Given the description of an element on the screen output the (x, y) to click on. 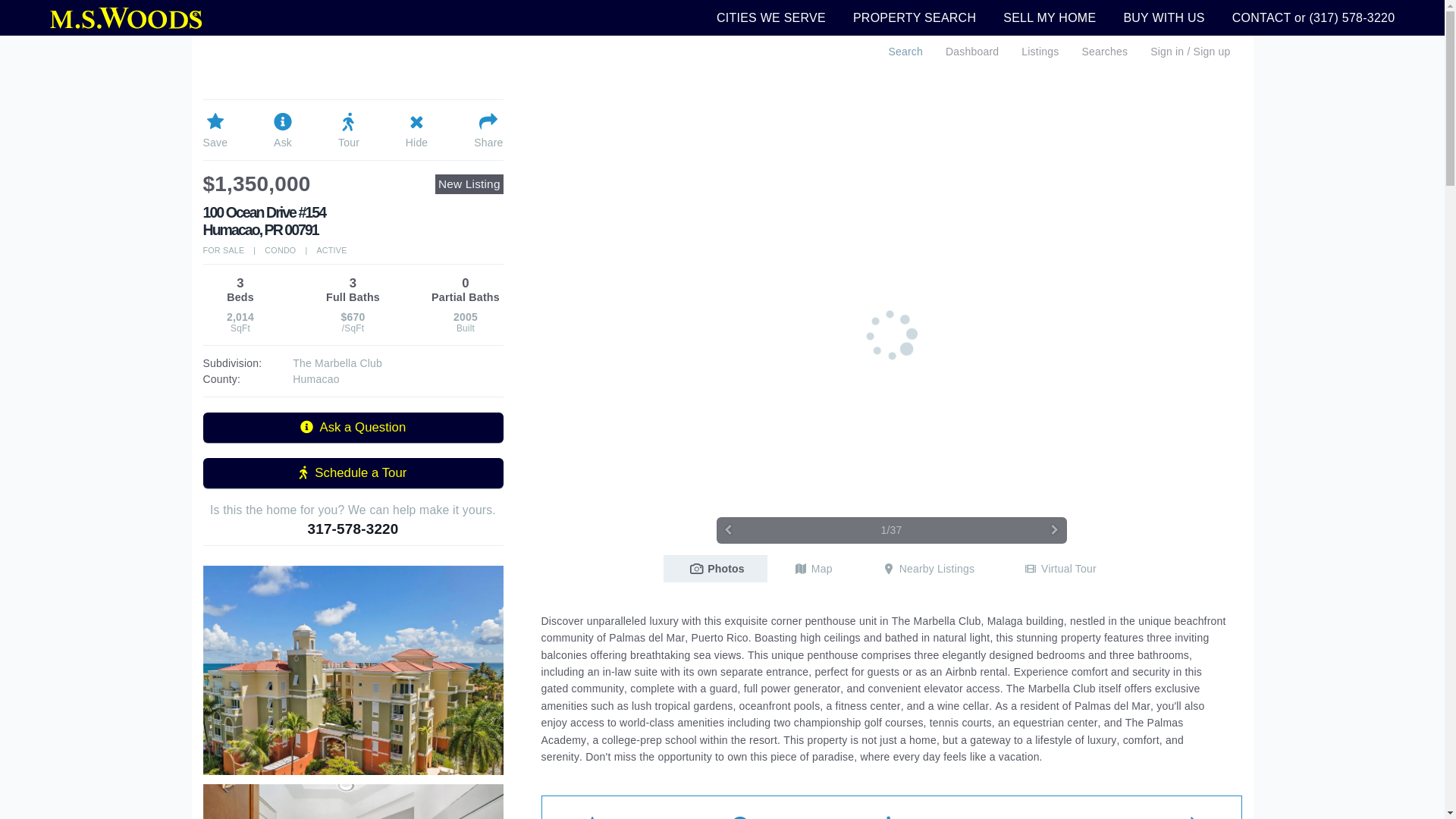
Schedule a Tour (353, 472)
Virtual Tour (1058, 568)
Dashboard (972, 52)
Ask a Question (353, 427)
PROPERTY SEARCH (914, 17)
317-578-3220 (352, 528)
CITIES WE SERVE (770, 17)
Listings (1040, 52)
Search (905, 52)
BUY WITH US (1163, 17)
SELL MY HOME (1049, 17)
Searches (1104, 52)
